Given the description of an element on the screen output the (x, y) to click on. 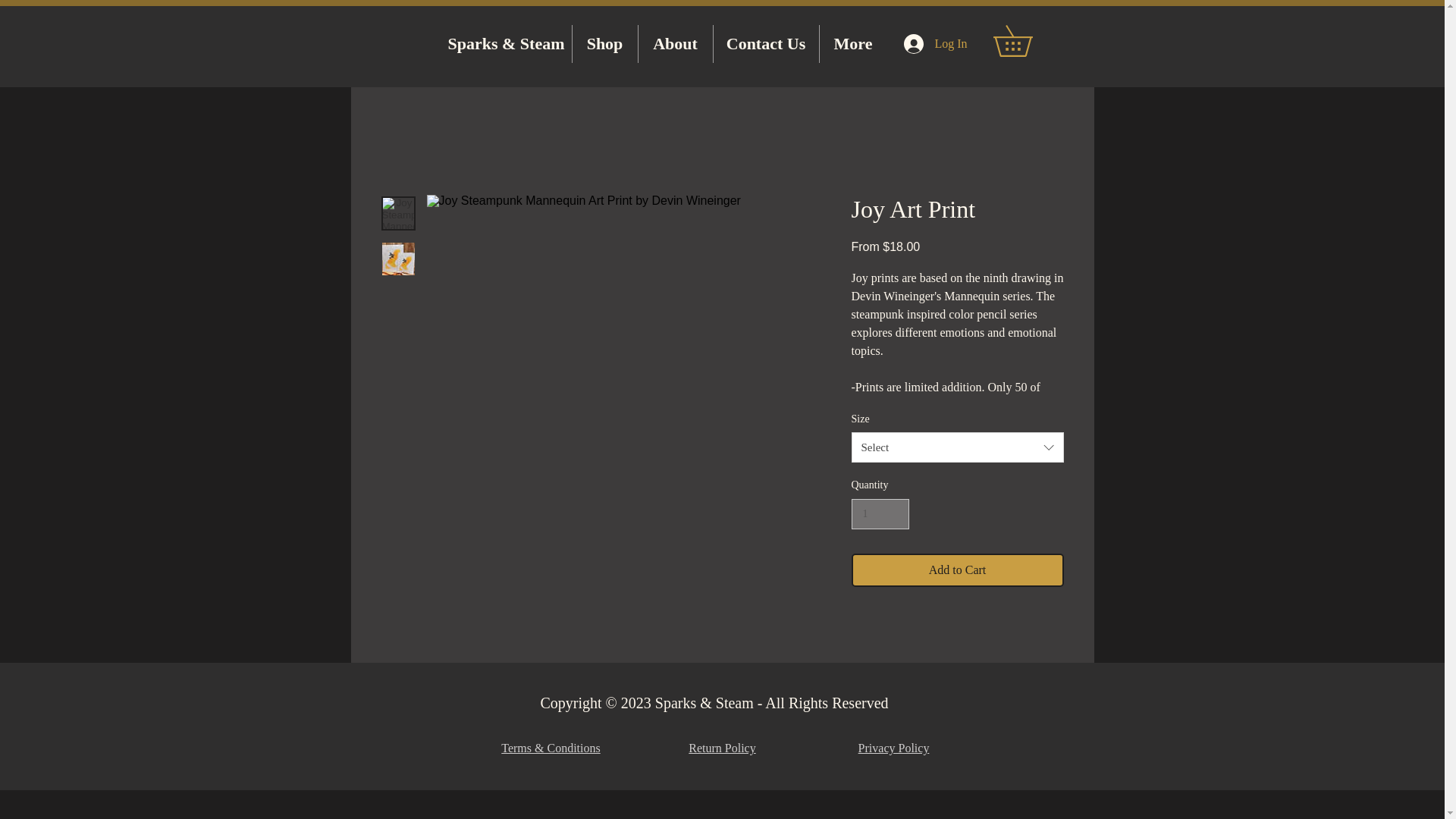
About (676, 44)
Shop (604, 44)
Contact Us (765, 44)
Privacy Policy (894, 748)
Log In (934, 43)
Select (956, 447)
Add to Cart (956, 570)
Return Policy (721, 748)
1 (879, 513)
